Given the description of an element on the screen output the (x, y) to click on. 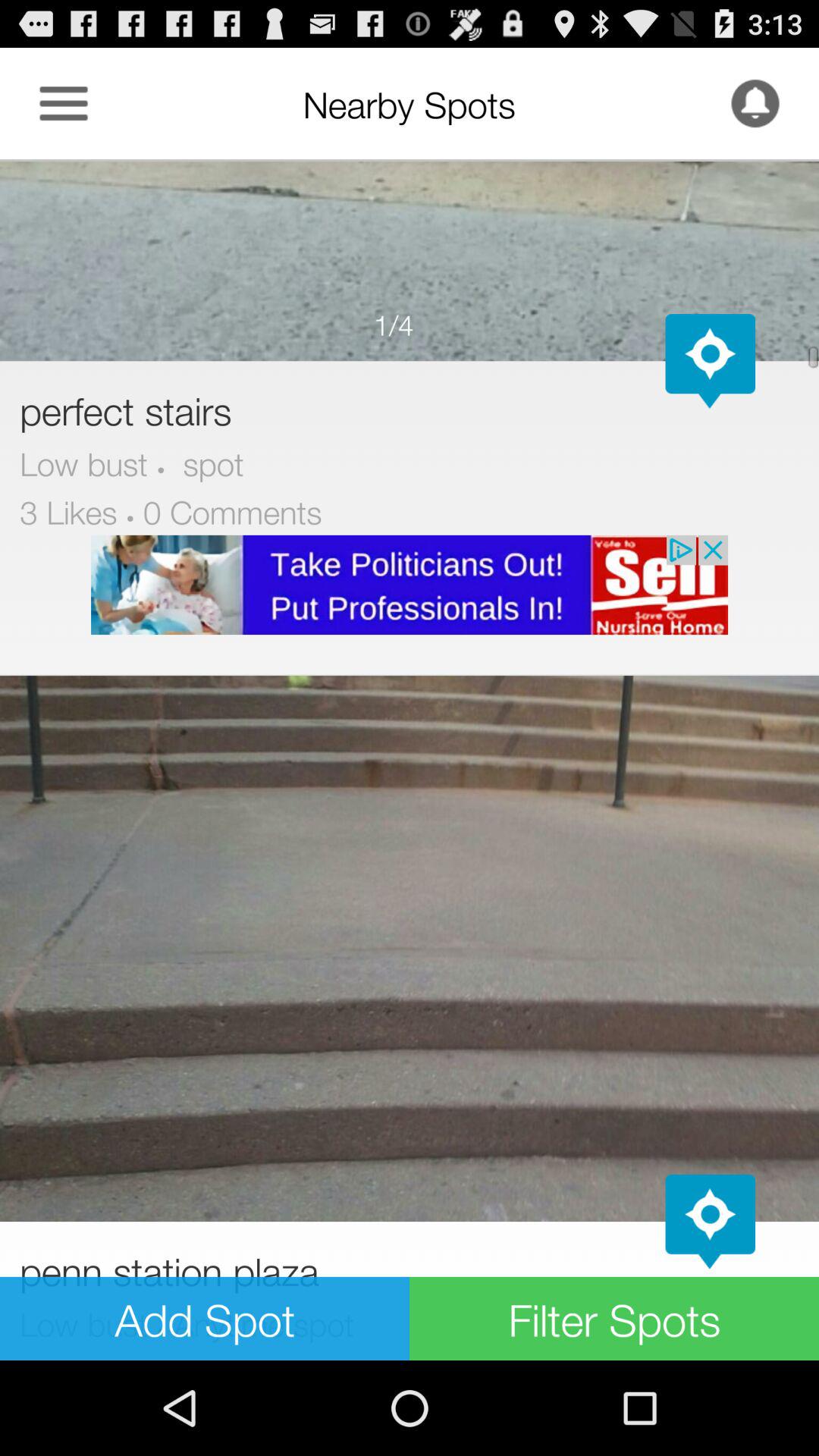
set up notifications (755, 103)
